Given the description of an element on the screen output the (x, y) to click on. 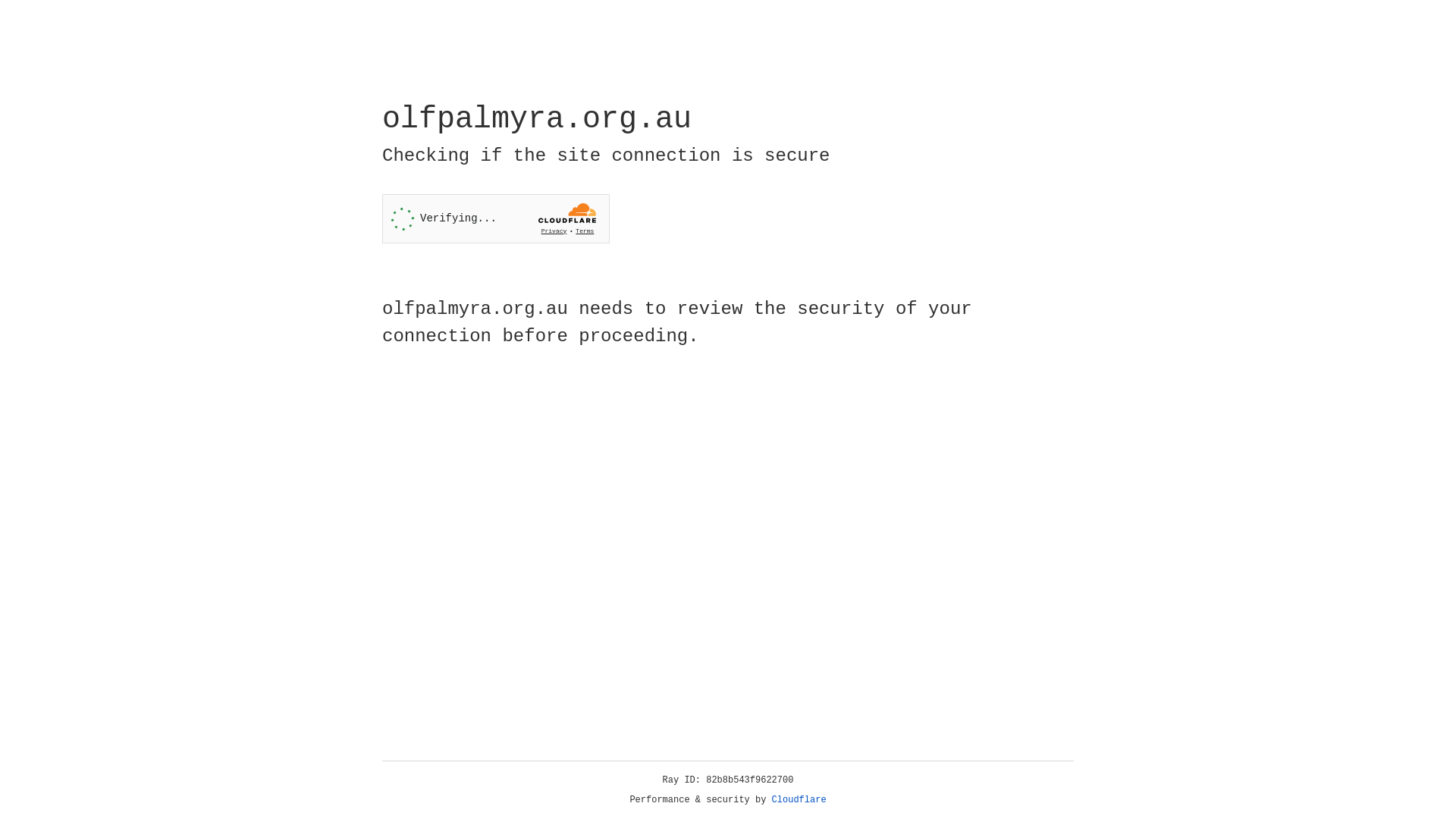
Cloudflare Element type: text (798, 799)
Widget containing a Cloudflare security challenge Element type: hover (495, 218)
